Given the description of an element on the screen output the (x, y) to click on. 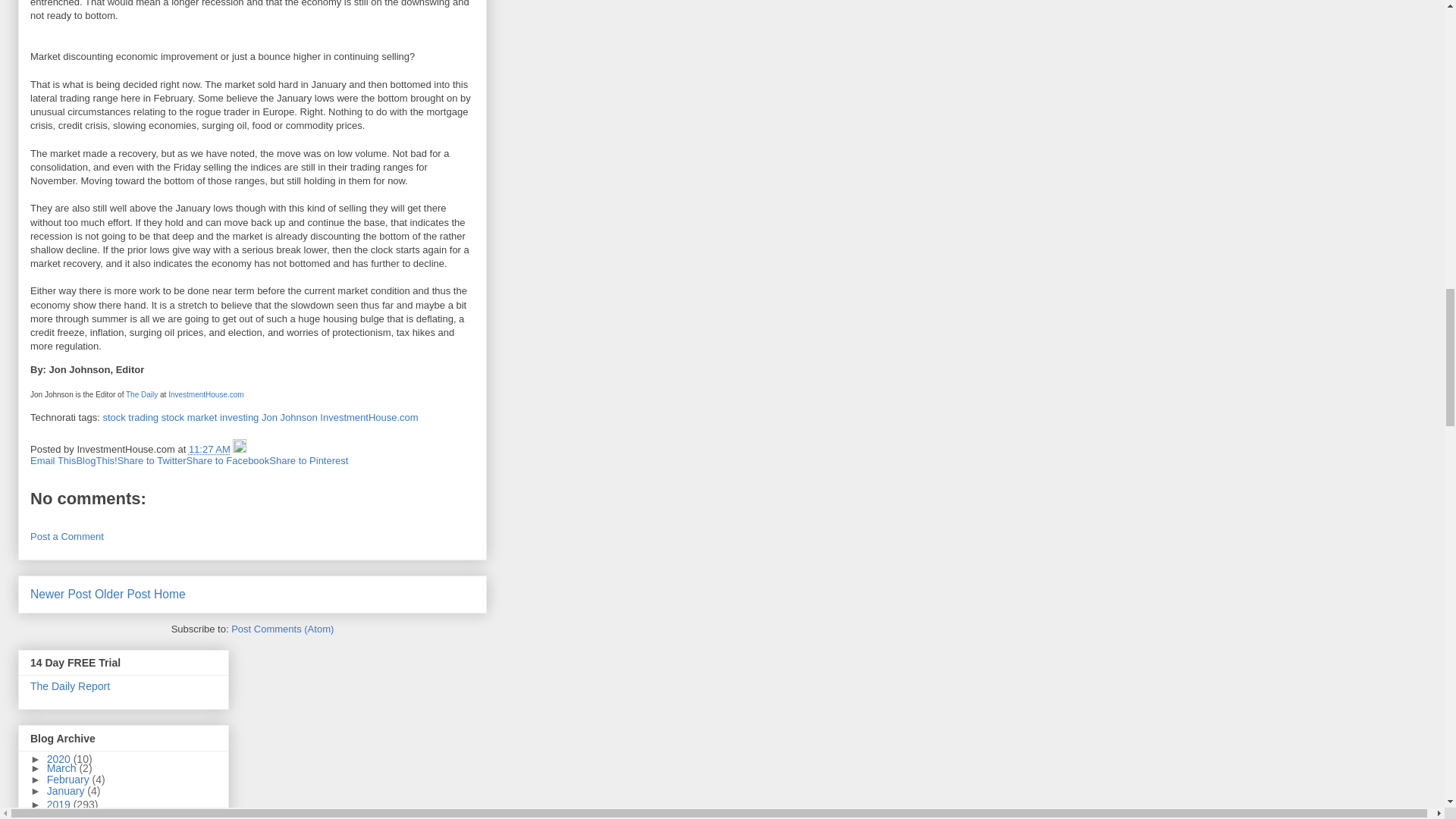
Newer Post (60, 594)
2019 (60, 804)
December (72, 813)
2020 (60, 758)
January (66, 790)
Home (170, 594)
Share to Twitter (151, 460)
Older Post (122, 594)
stock market (188, 417)
Edit Post (239, 449)
The Daily Report (70, 686)
February (69, 779)
March (63, 767)
Jon Johnson (289, 417)
Share to Pinterest (308, 460)
